Given the description of an element on the screen output the (x, y) to click on. 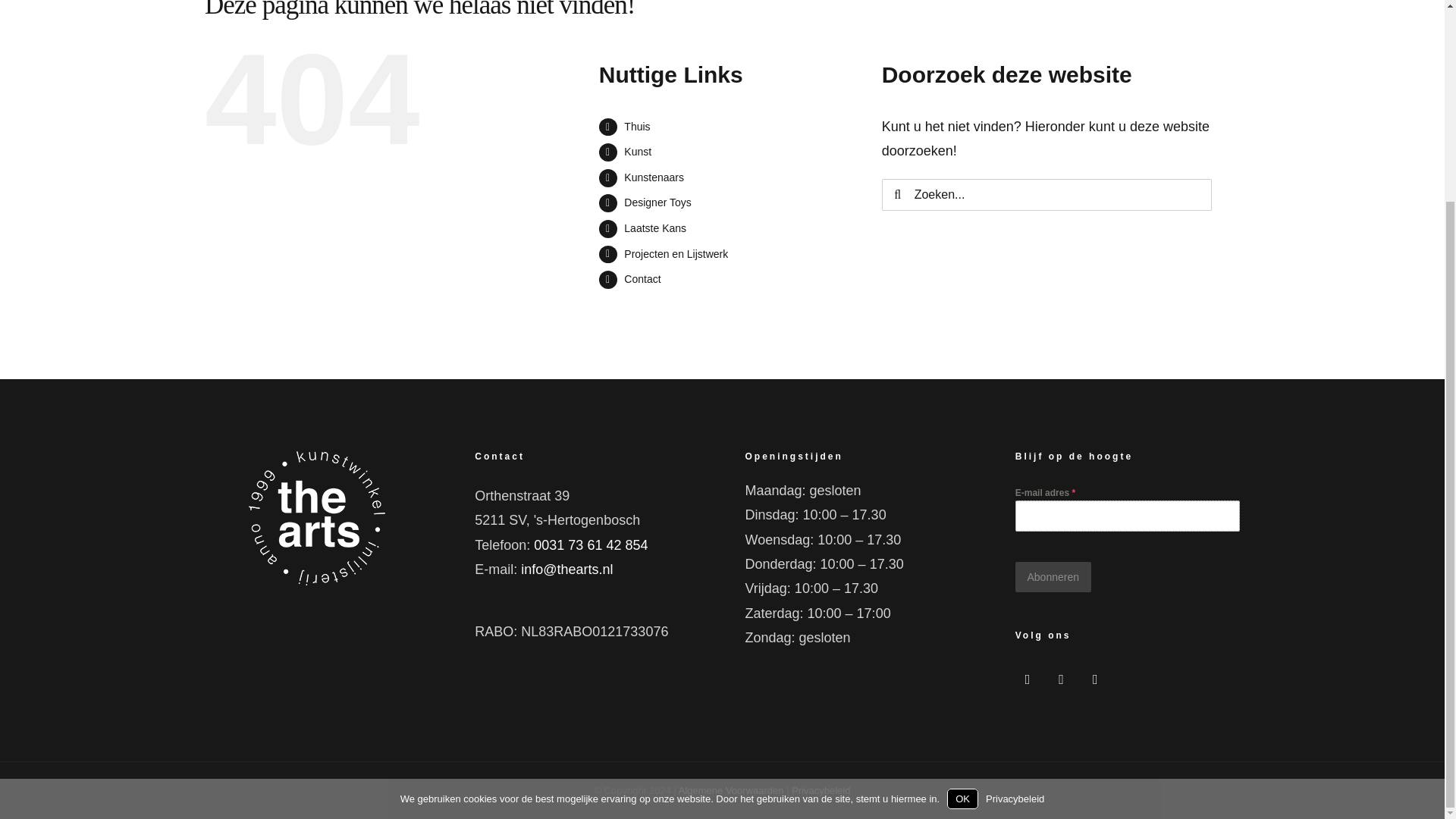
Projecten en Lijstwerk (676, 254)
Contact (642, 278)
Kunst (637, 151)
Abonneren (1052, 576)
Laatste Kans (654, 227)
0031 73 61 42 854 (590, 544)
Thuis (636, 126)
Designer Toys (657, 202)
Kunstenaars (654, 177)
